Given the description of an element on the screen output the (x, y) to click on. 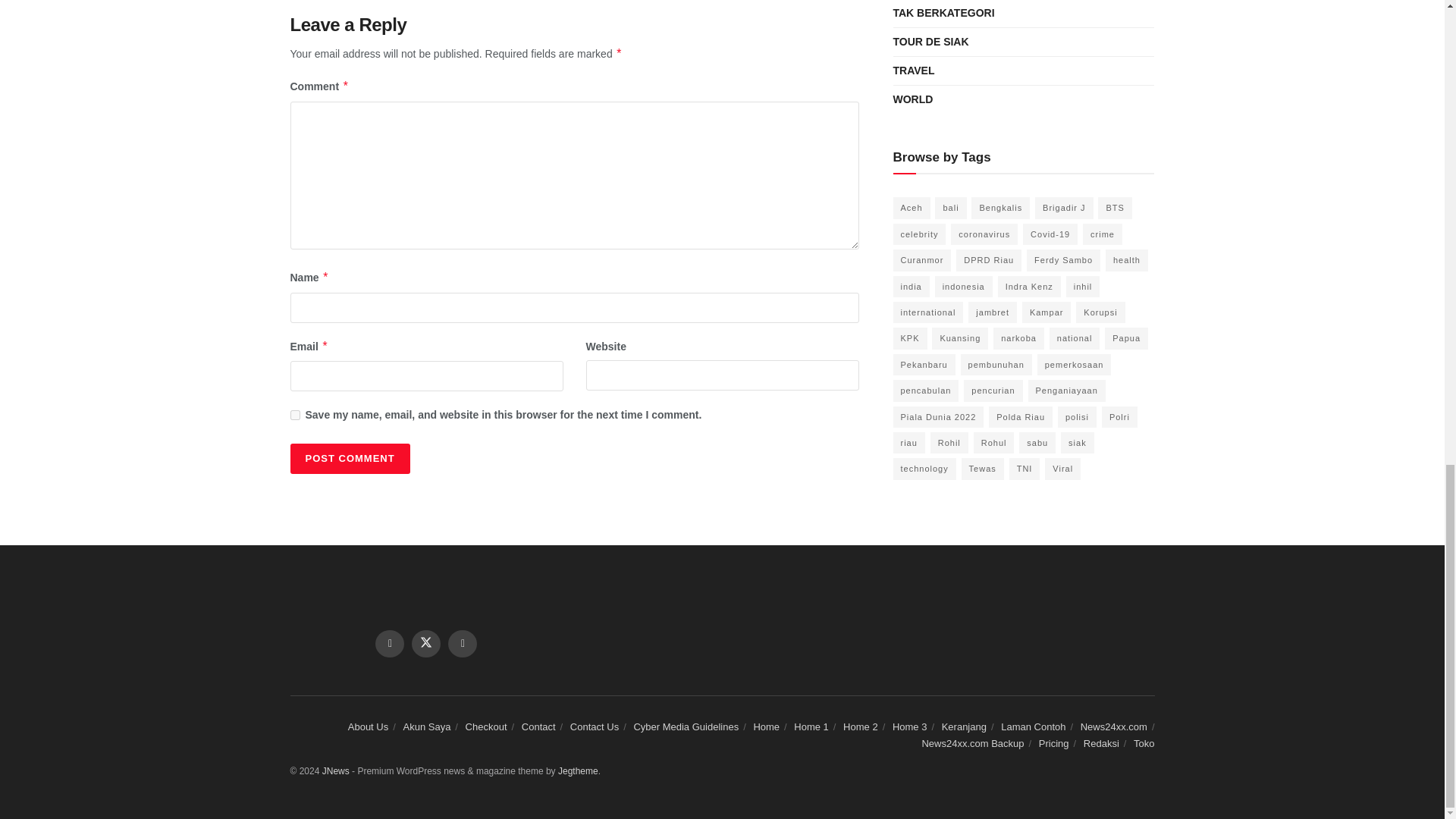
Jegtheme (577, 770)
yes (294, 415)
Post Comment (349, 458)
